Given the description of an element on the screen output the (x, y) to click on. 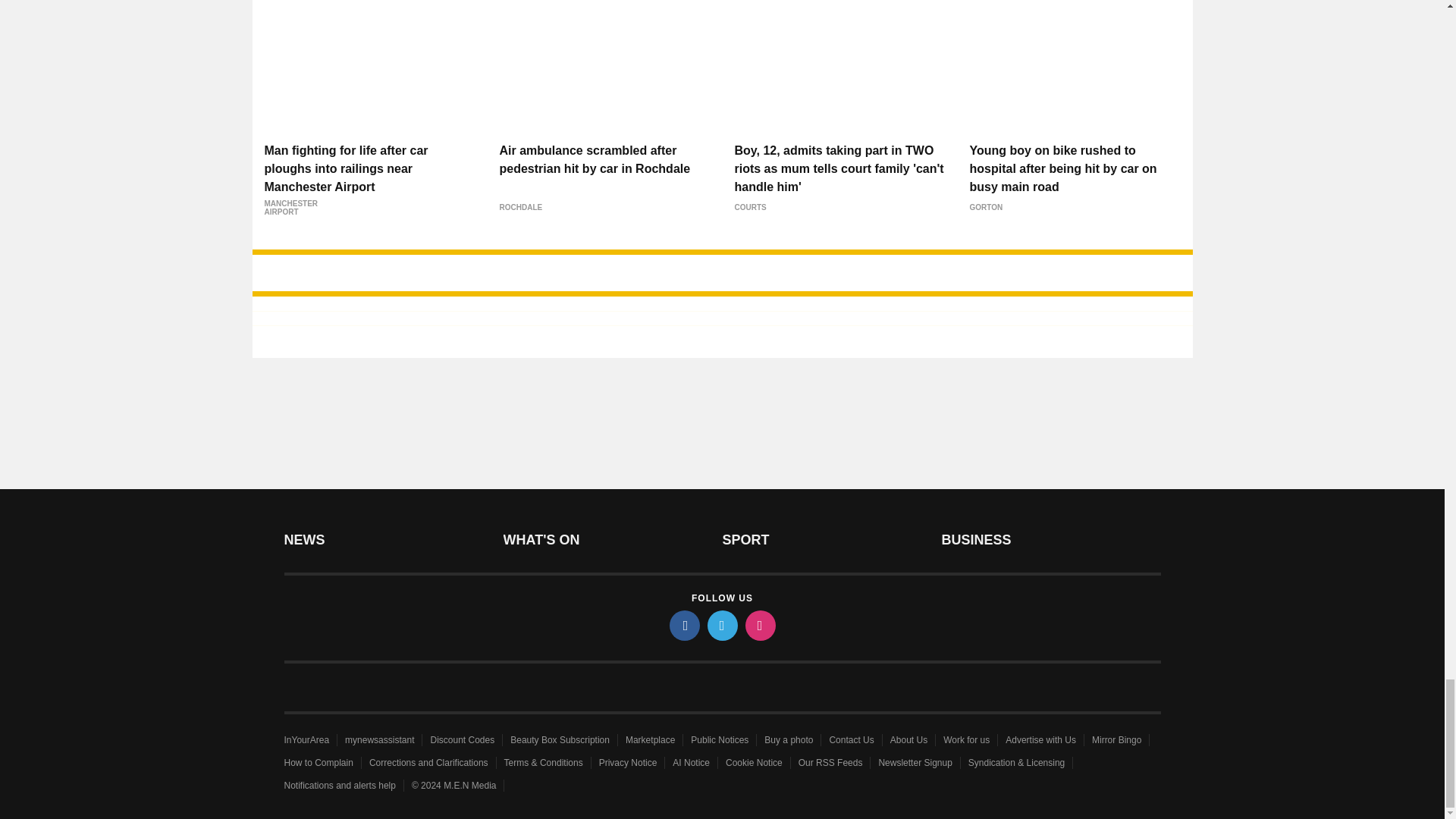
instagram (759, 625)
twitter (721, 625)
facebook (683, 625)
